Given the description of an element on the screen output the (x, y) to click on. 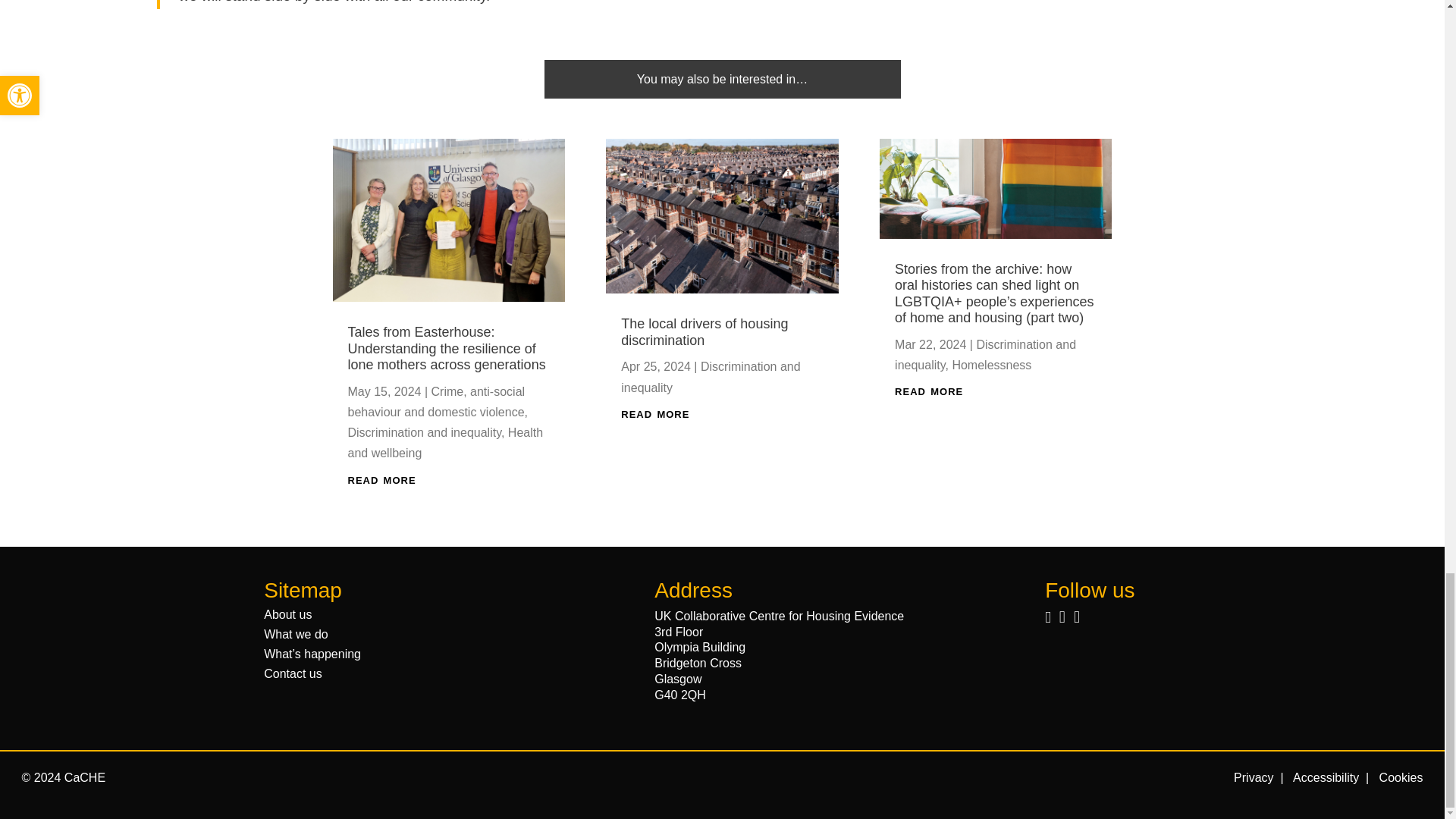
Discrimination and inequality (423, 431)
Crime, anti-social behaviour and domestic violence (435, 401)
